Given the description of an element on the screen output the (x, y) to click on. 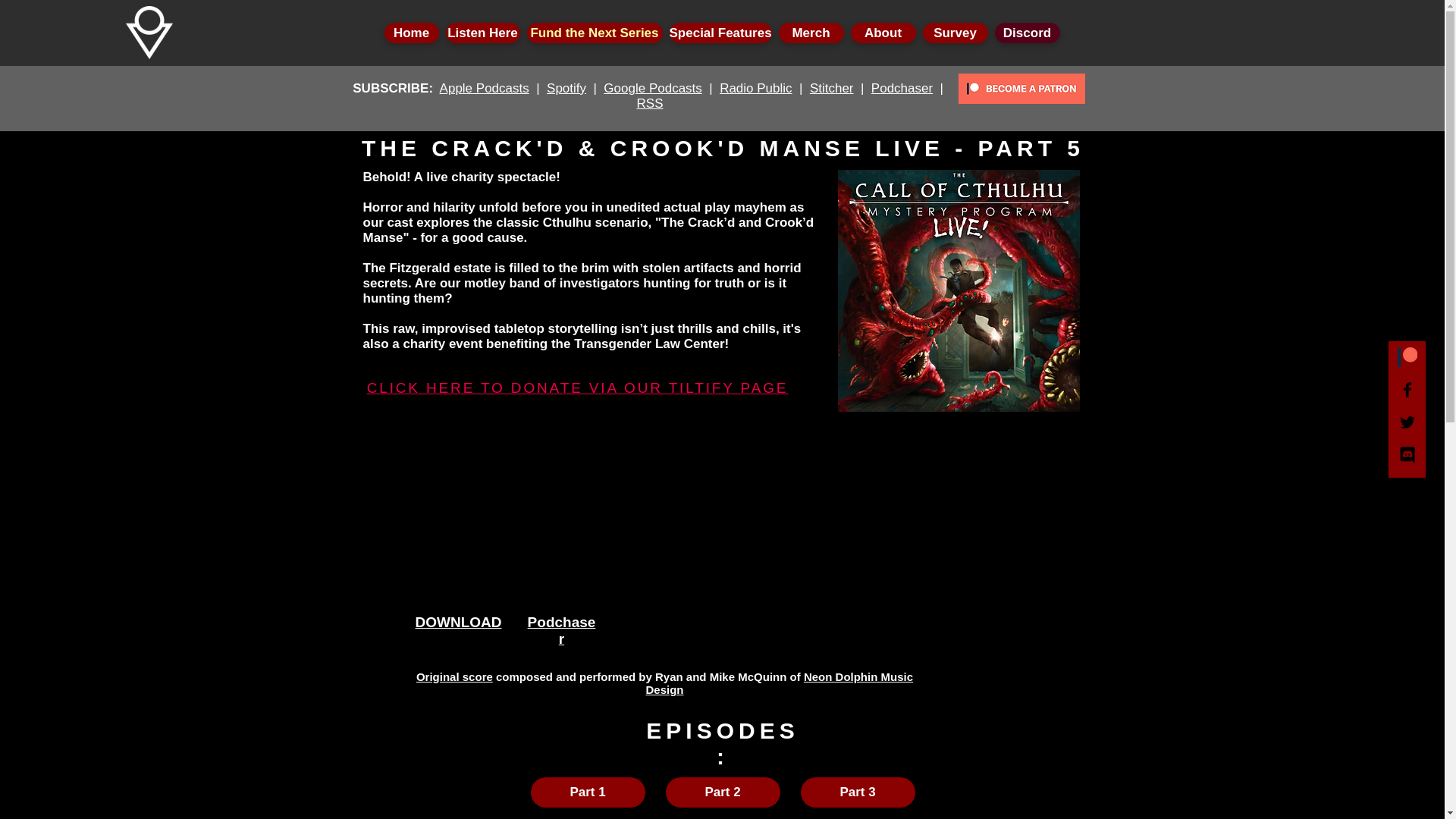
Google Podcasts (652, 88)
Apple Podcasts (484, 88)
Special Features (719, 32)
Fund the Next Series (593, 32)
Listen Here (482, 32)
CLICK HERE TO DONATE VIA OUR TILTIFY PAGE (577, 387)
Part 1 (588, 792)
About (882, 32)
Spotify (566, 88)
Discord (1026, 32)
Merch (810, 32)
Part 3 (857, 792)
Part 2 (722, 792)
RSS (650, 103)
Stitcher (831, 88)
